Given the description of an element on the screen output the (x, y) to click on. 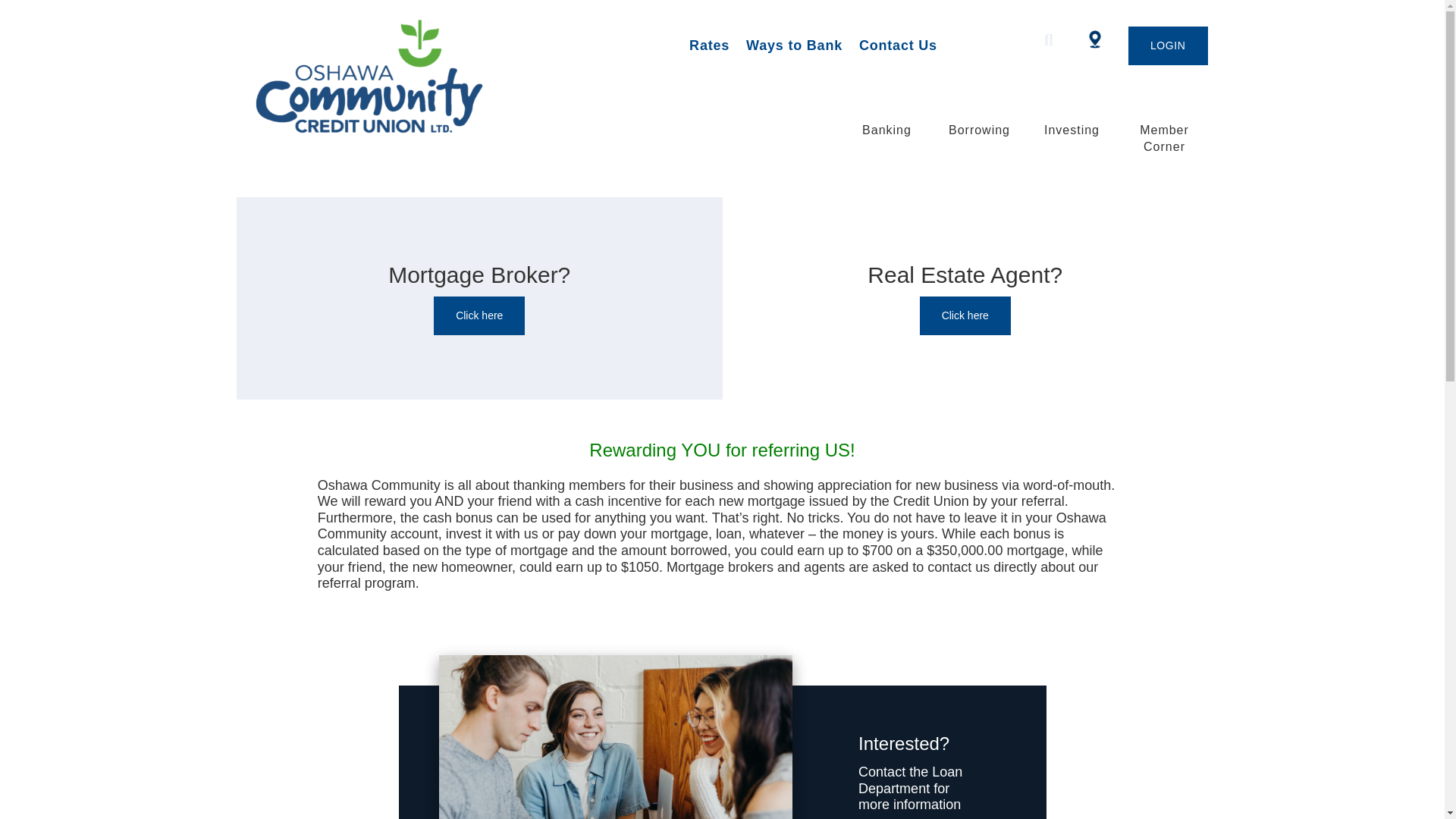
Ways to Bank (794, 45)
Rates (708, 45)
Oshawa Community Credit Union (426, 76)
Oshawa Community Credit Union (367, 76)
Real Estate Agent? (965, 315)
Exchange Network ATM Locator (1094, 37)
Contact Us (898, 45)
LOGIN (1168, 45)
Mortgage Broker? (478, 315)
LOGIN (1168, 45)
